Given the description of an element on the screen output the (x, y) to click on. 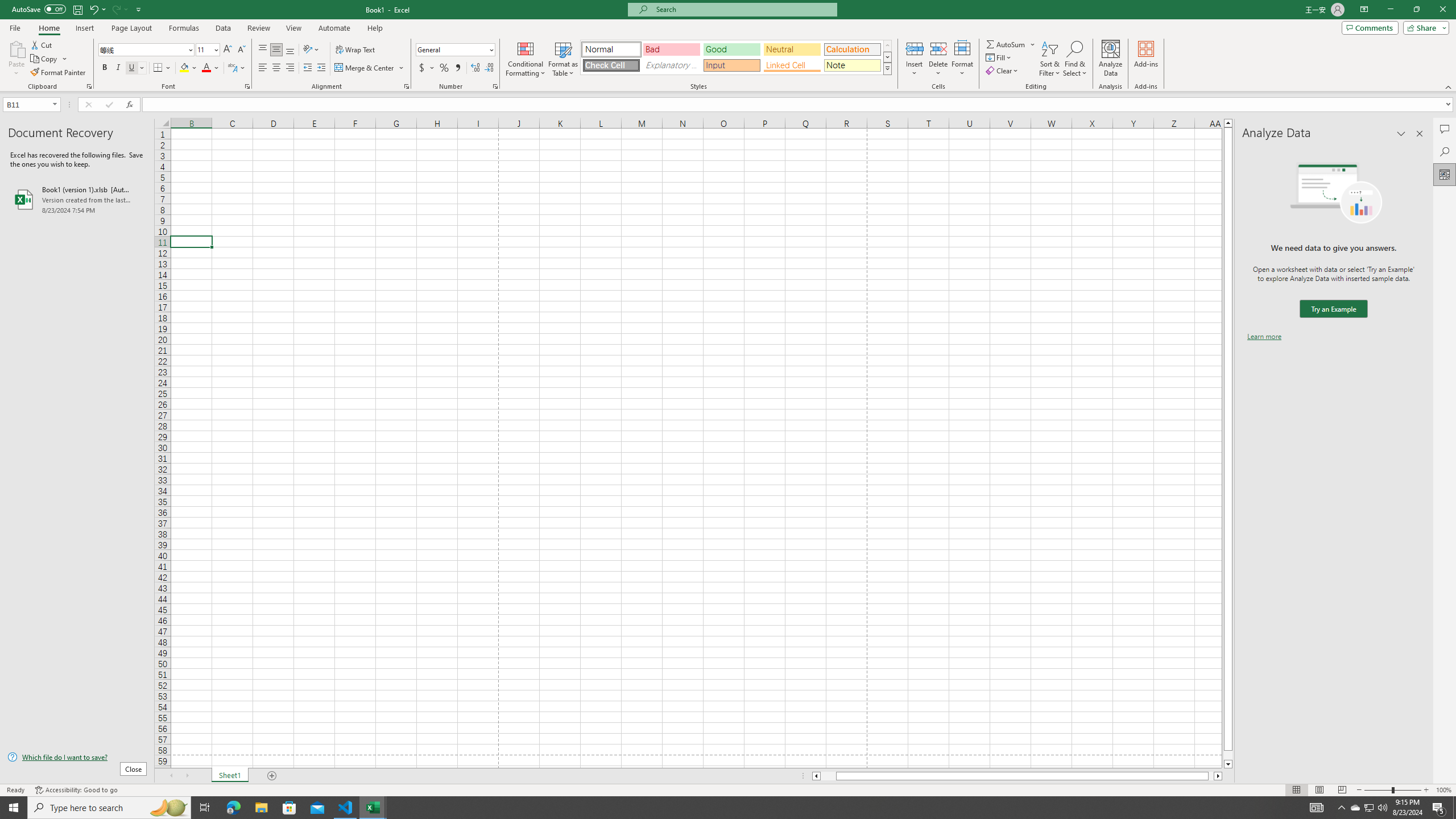
Check Cell (611, 65)
Copy (49, 58)
Insert Cells (914, 48)
Decrease Decimal (489, 67)
